Given the description of an element on the screen output the (x, y) to click on. 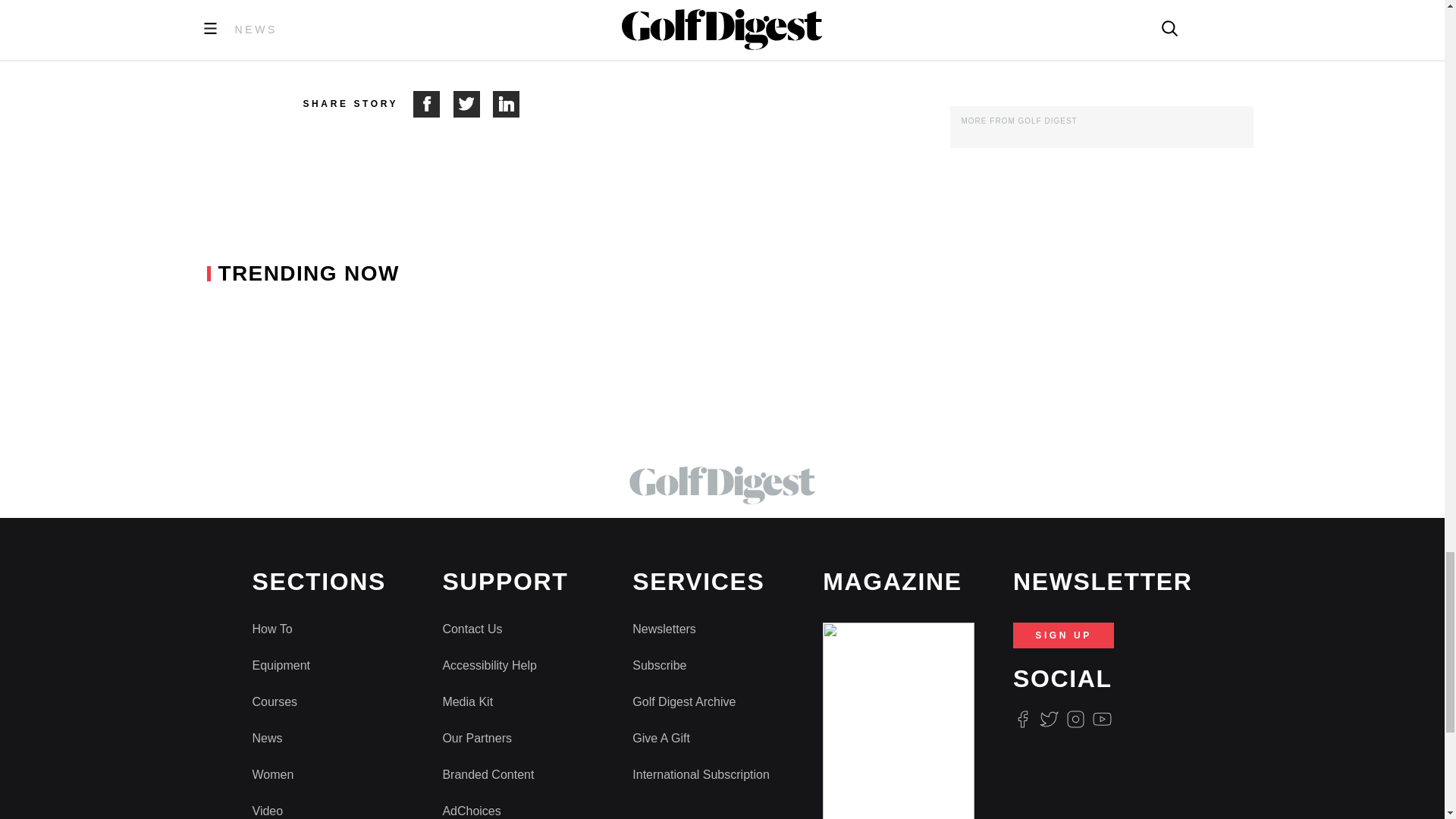
Youtube Icon (1102, 719)
Facebook Logo (1022, 719)
Twitter Logo (1048, 719)
Instagram Logo (1074, 719)
